Given the description of an element on the screen output the (x, y) to click on. 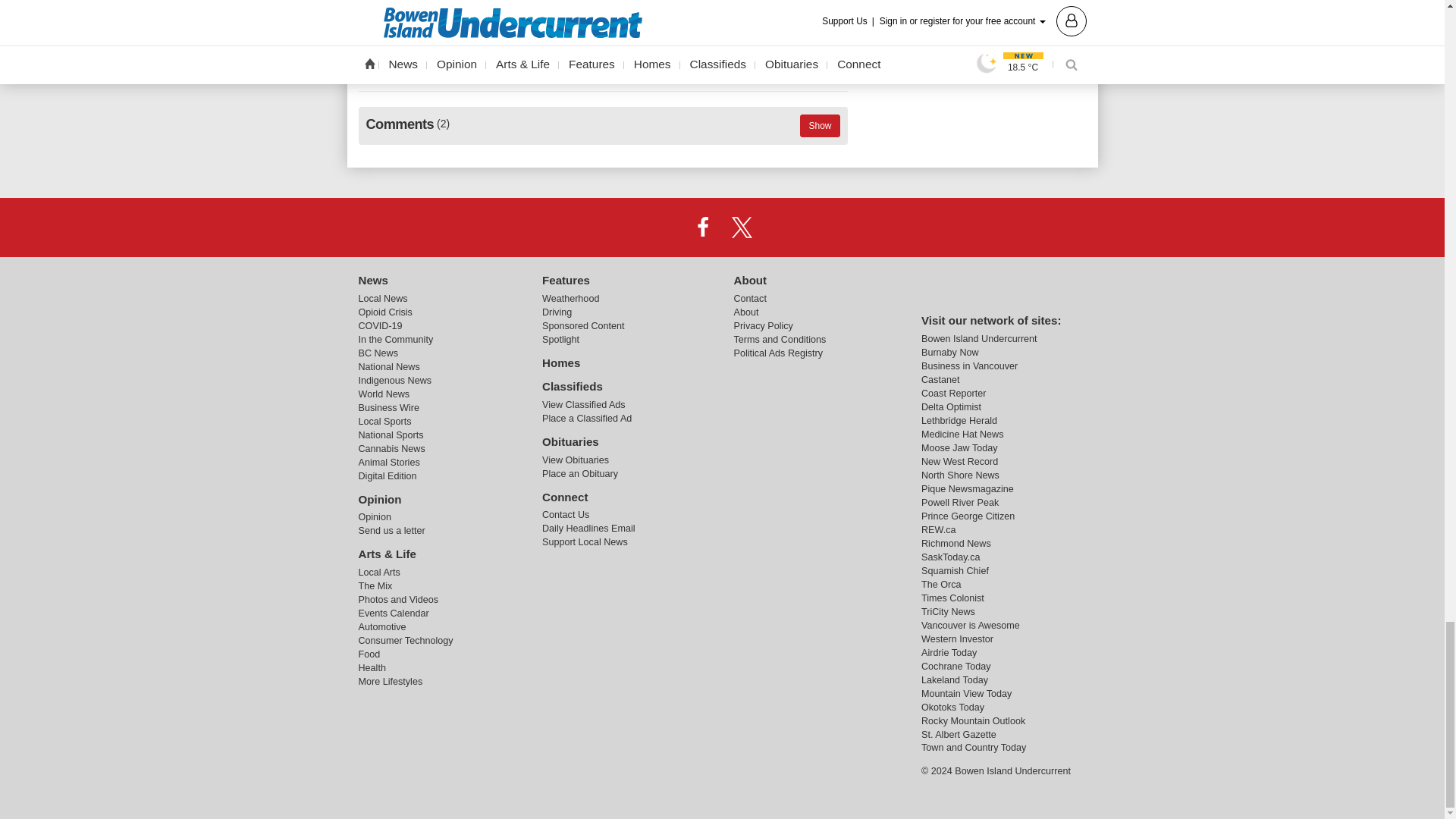
X (741, 226)
Facebook (702, 226)
